Given the description of an element on the screen output the (x, y) to click on. 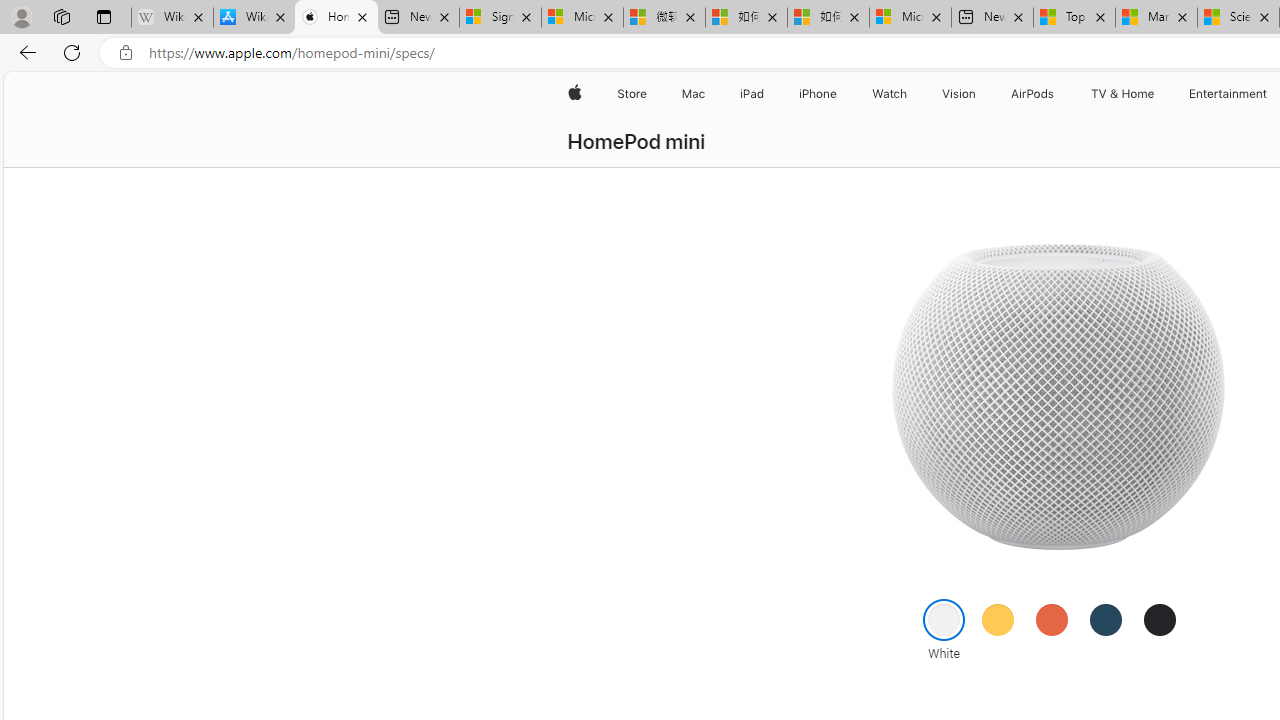
White HomePod mini (1056, 396)
iPhone (818, 93)
Vision (959, 93)
AirPods (1032, 93)
White (943, 619)
TV & Home (1122, 93)
Class: globalnav-submenu-trigger-item (1157, 93)
TV and Home (1122, 93)
